Given the description of an element on the screen output the (x, y) to click on. 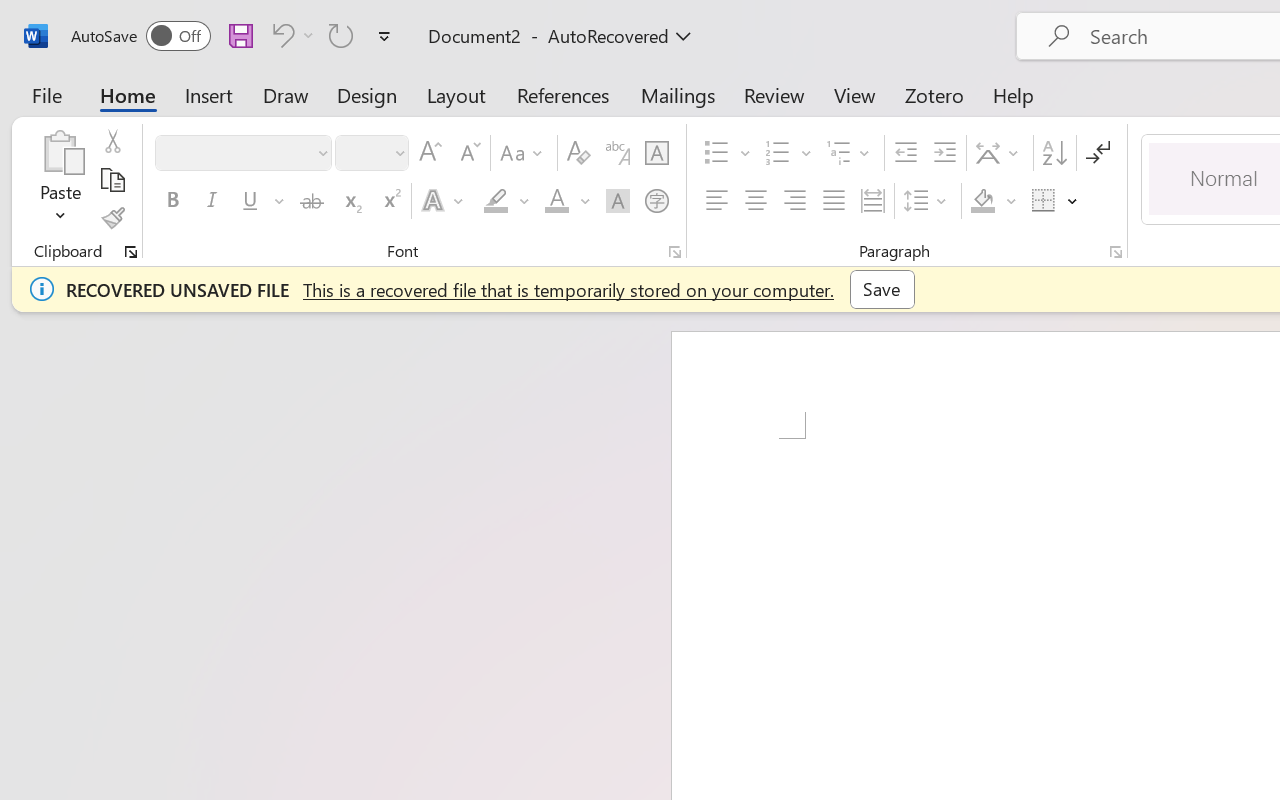
Justify (834, 201)
Office Clipboard... (131, 252)
Subscript (350, 201)
Enclose Characters... (656, 201)
Text Highlight Color Yellow (495, 201)
Format Painter (112, 218)
Line and Paragraph Spacing (927, 201)
Font Color (567, 201)
Copy (112, 179)
Open (399, 152)
